Given the description of an element on the screen output the (x, y) to click on. 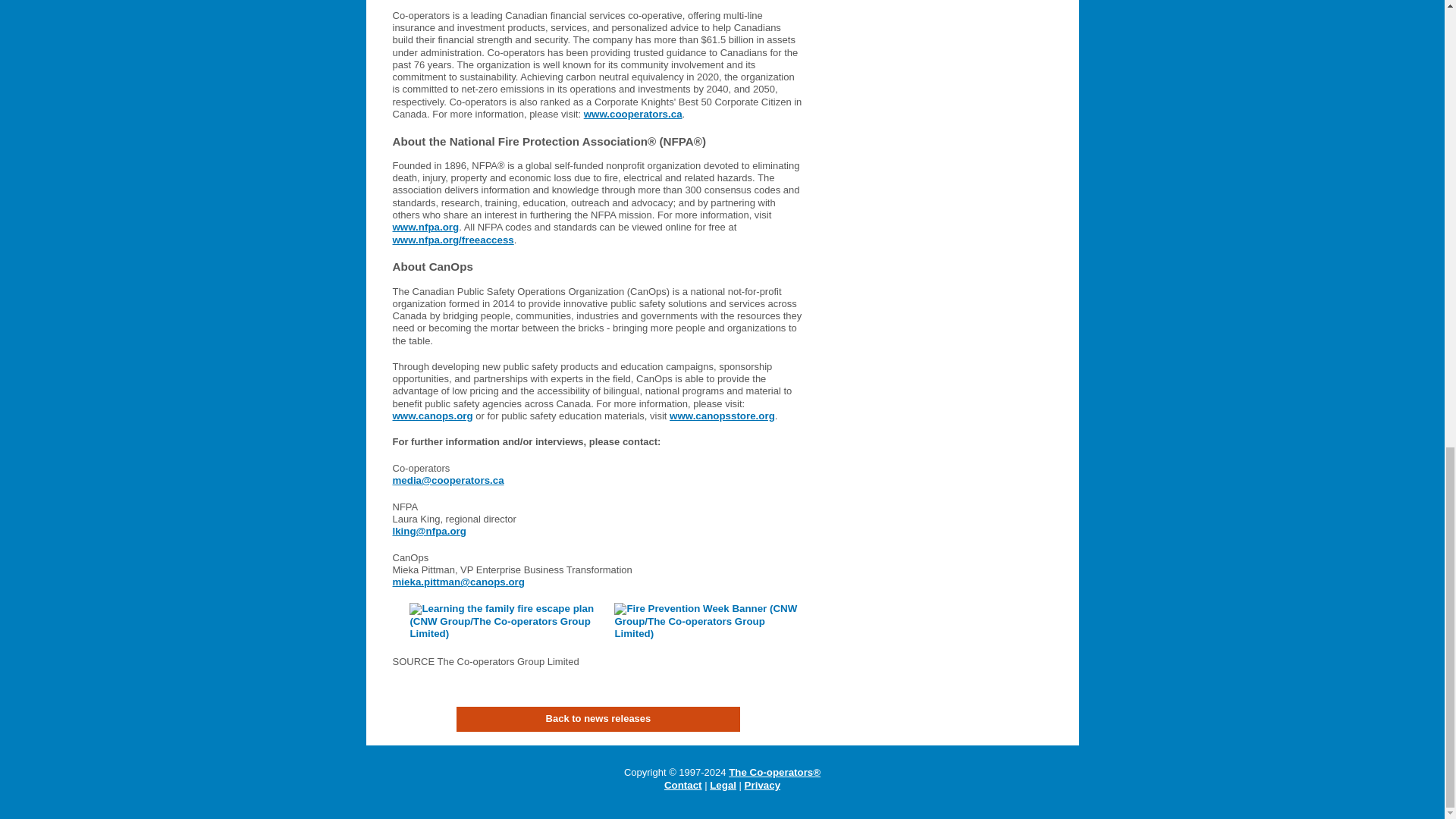
Contact (682, 785)
www.nfpa.org (426, 226)
www.canops.org (433, 415)
Back to news releases (598, 719)
www.canopsstore.org (721, 415)
www.cooperators.ca (632, 113)
